Given the description of an element on the screen output the (x, y) to click on. 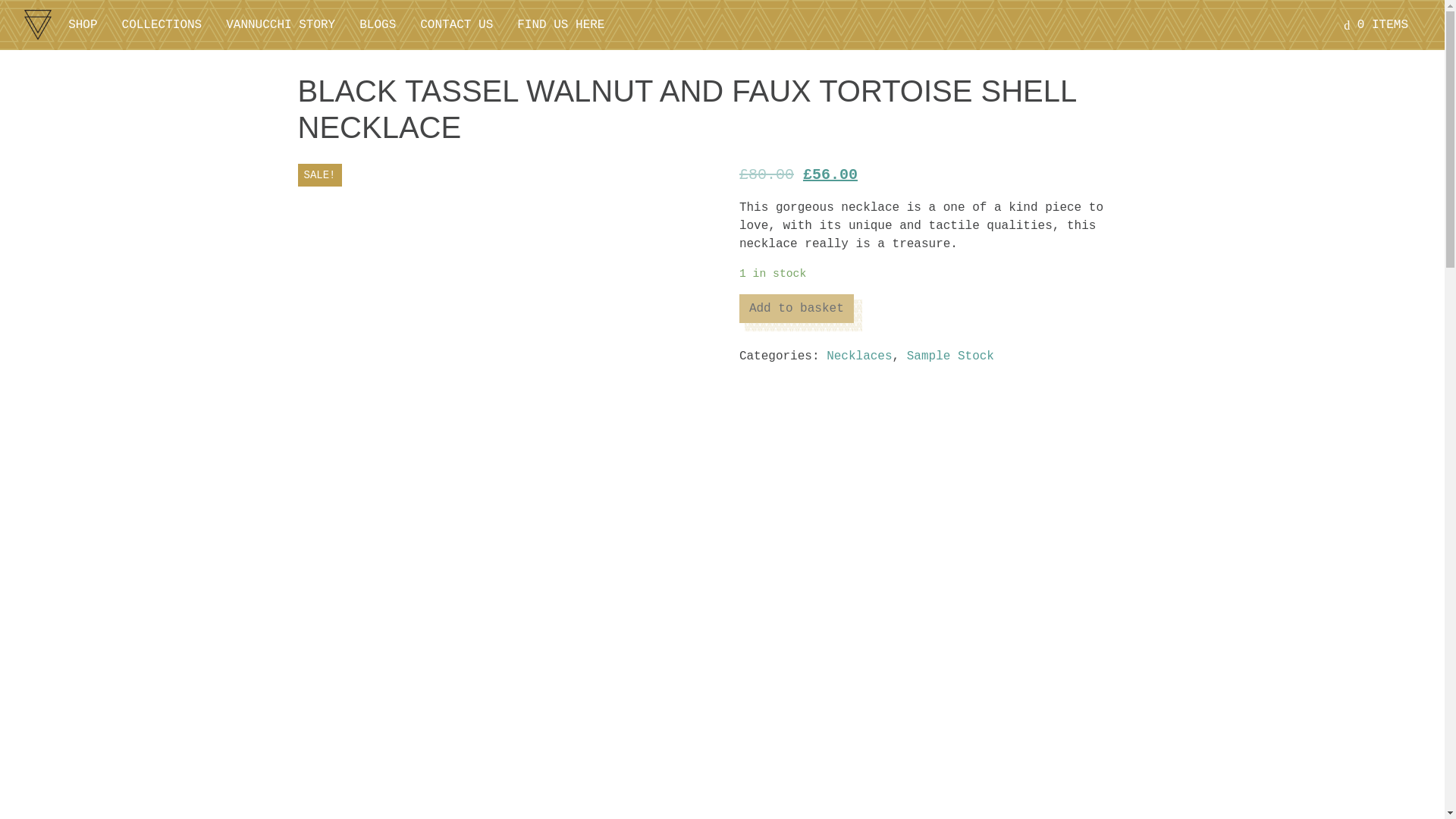
Cart View (1376, 24)
COLLECTIONS (162, 24)
VANNUCCHI STORY (280, 24)
SHOP (82, 24)
Add to basket (796, 308)
0 ITEMS (1376, 24)
BLOGS (377, 24)
Sample Stock (950, 356)
Necklaces (859, 356)
FIND US HERE (560, 24)
